Given the description of an element on the screen output the (x, y) to click on. 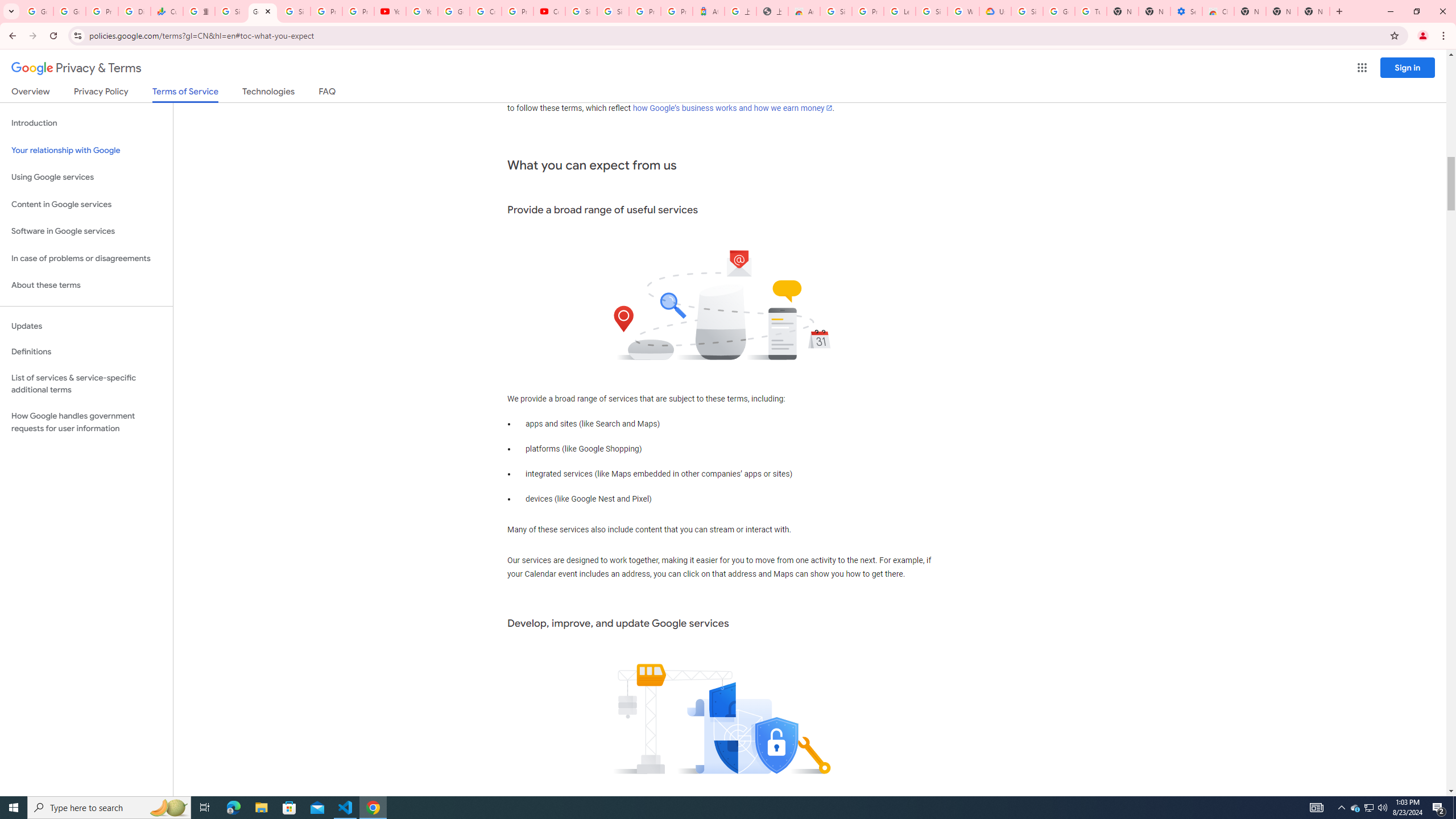
How Google handles government requests for user information (86, 422)
Content Creator Programs & Opportunities - YouTube Creators (549, 11)
Google Workspace Admin Community (37, 11)
YouTube (389, 11)
Address and search bar (735, 35)
Forward (32, 35)
Using Google services (86, 176)
Chrome (1445, 35)
Sign in - Google Accounts (836, 11)
Who are Google's partners? - Privacy and conditions - Google (963, 11)
Create your Google Account (485, 11)
Sign in - Google Accounts (613, 11)
